Given the description of an element on the screen output the (x, y) to click on. 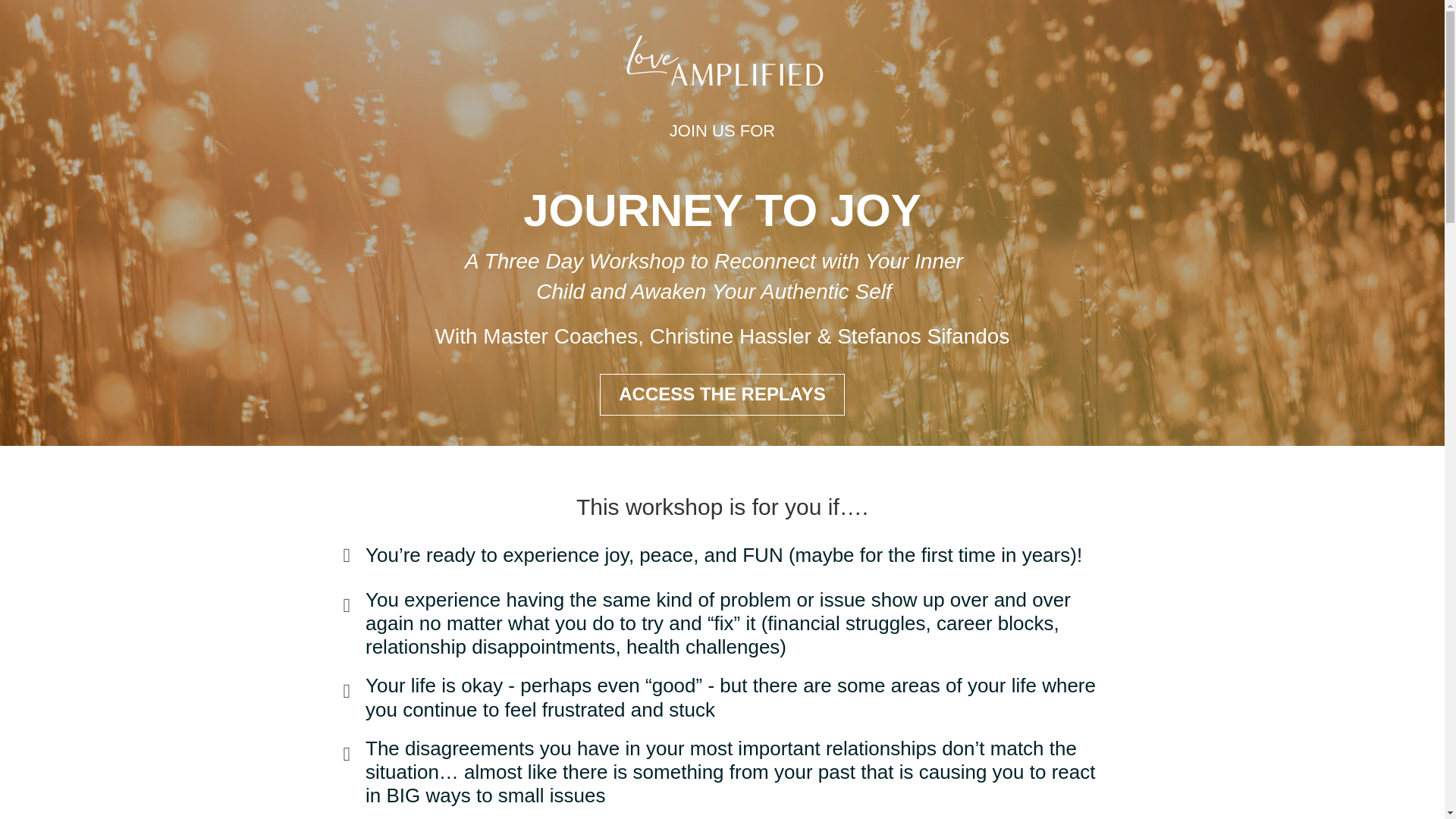
ACCESS THE REPLAYS (721, 394)
